Given the description of an element on the screen output the (x, y) to click on. 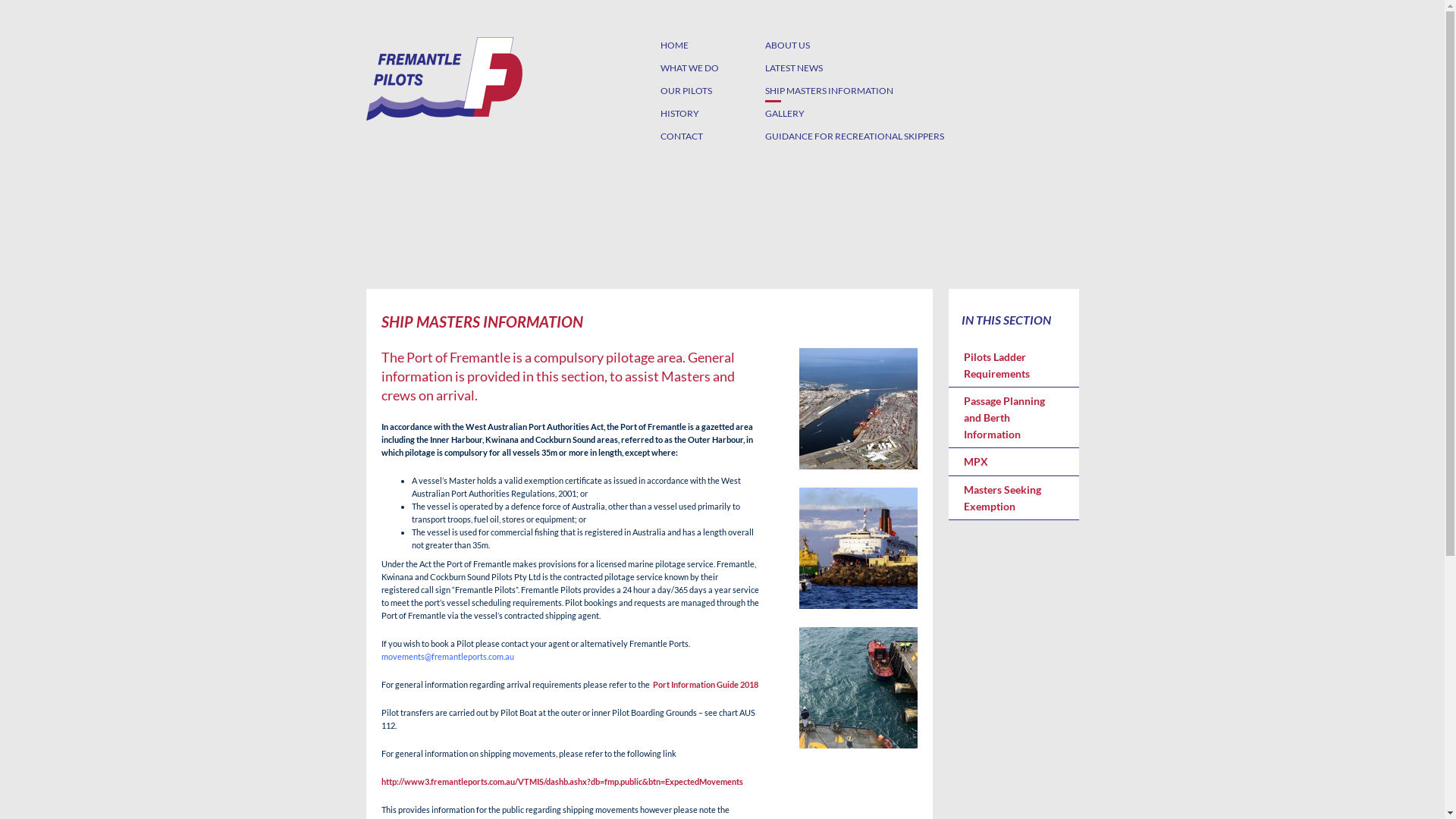
CONTACT Element type: text (680, 135)
LATEST NEWS Element type: text (793, 67)
ABOUT US Element type: text (786, 44)
SHIP MASTERS INFORMATION Element type: text (828, 90)
GALLERY Element type: text (783, 113)
WHAT WE DO Element type: text (688, 67)
Passage Planning and Berth Information Element type: text (1012, 417)
Pilots Ladder Requirements Element type: text (1012, 364)
HISTORY Element type: text (678, 113)
MPX Element type: text (1012, 461)
OUR PILOTS Element type: text (685, 90)
Masters Seeking Exemption Element type: text (1012, 497)
HOME Element type: text (673, 44)
GUIDANCE FOR RECREATIONAL SKIPPERS Element type: text (853, 135)
Port Information Guide 2018 Element type: text (704, 684)
